Given the description of an element on the screen output the (x, y) to click on. 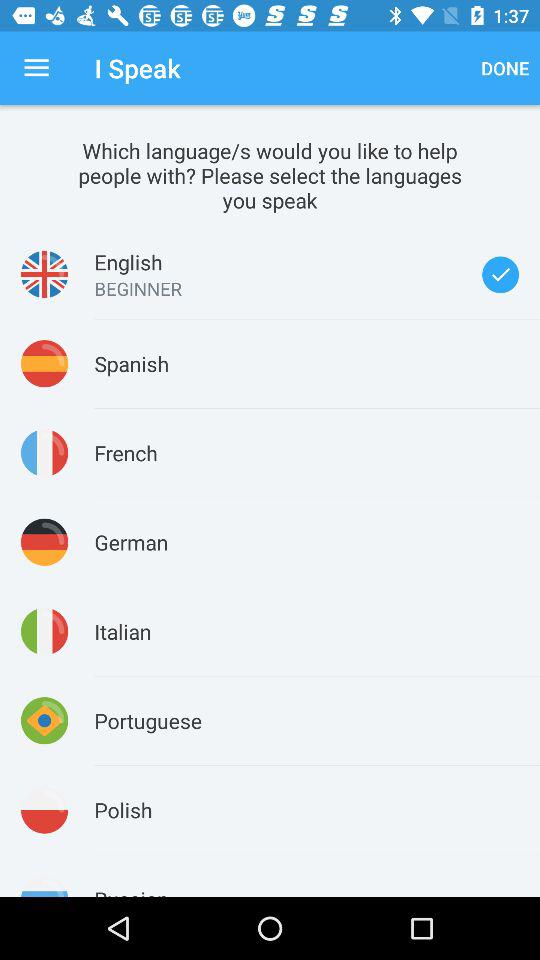
press the icon next to i speak item (505, 67)
